Given the description of an element on the screen output the (x, y) to click on. 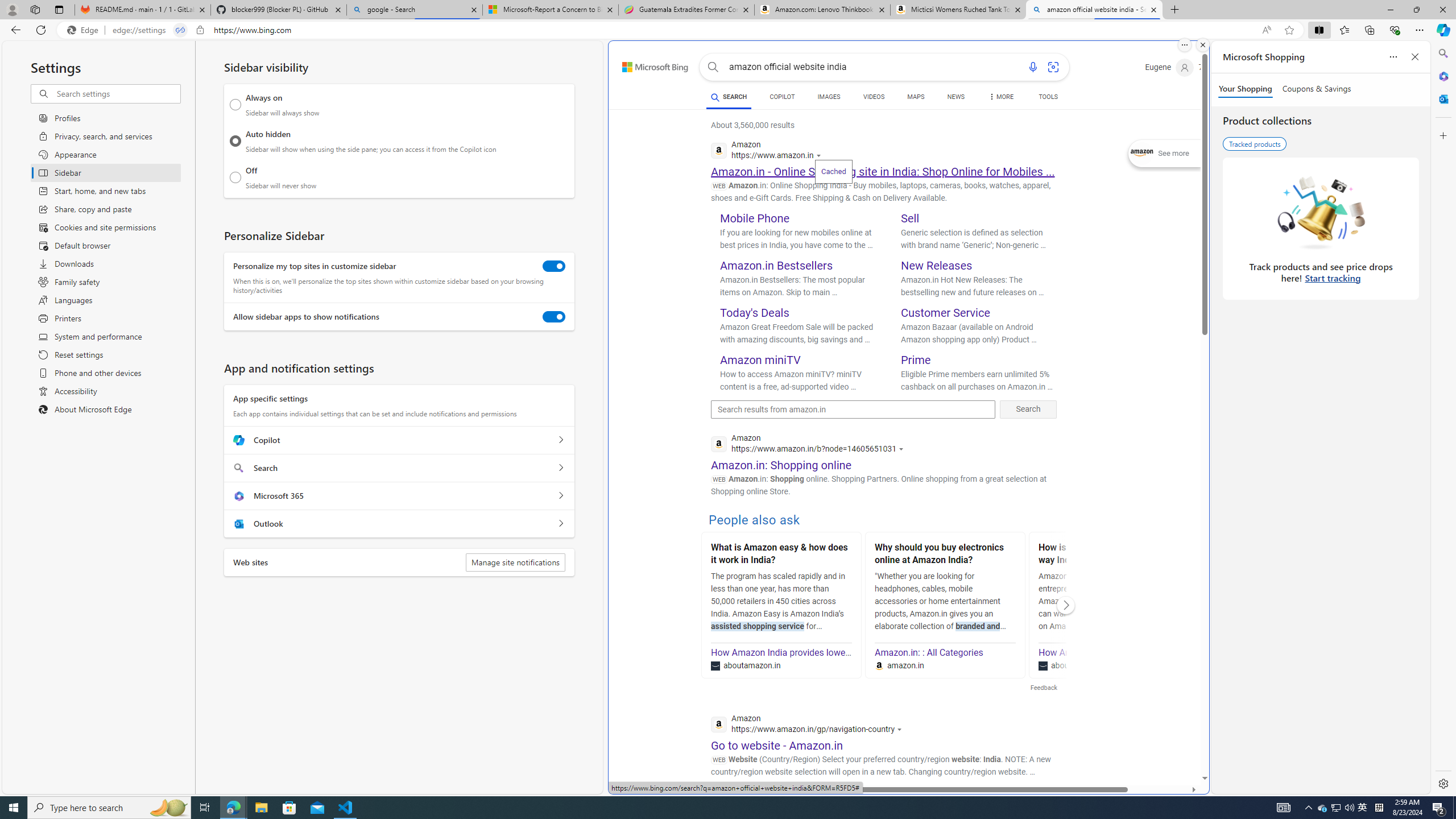
Dropdown Menu (1000, 96)
Minimize (1390, 9)
VIDEOS (873, 96)
Collections (1369, 29)
Add this page to favorites (Ctrl+D) (1289, 29)
Close split screen. (1202, 45)
Search settings (117, 93)
Microsoft Rewards 72 (1214, 67)
What is Amazon easy & how does it work in India? (780, 555)
Expand (1142, 153)
Customer Service (945, 312)
Copilot (560, 439)
